Given the description of an element on the screen output the (x, y) to click on. 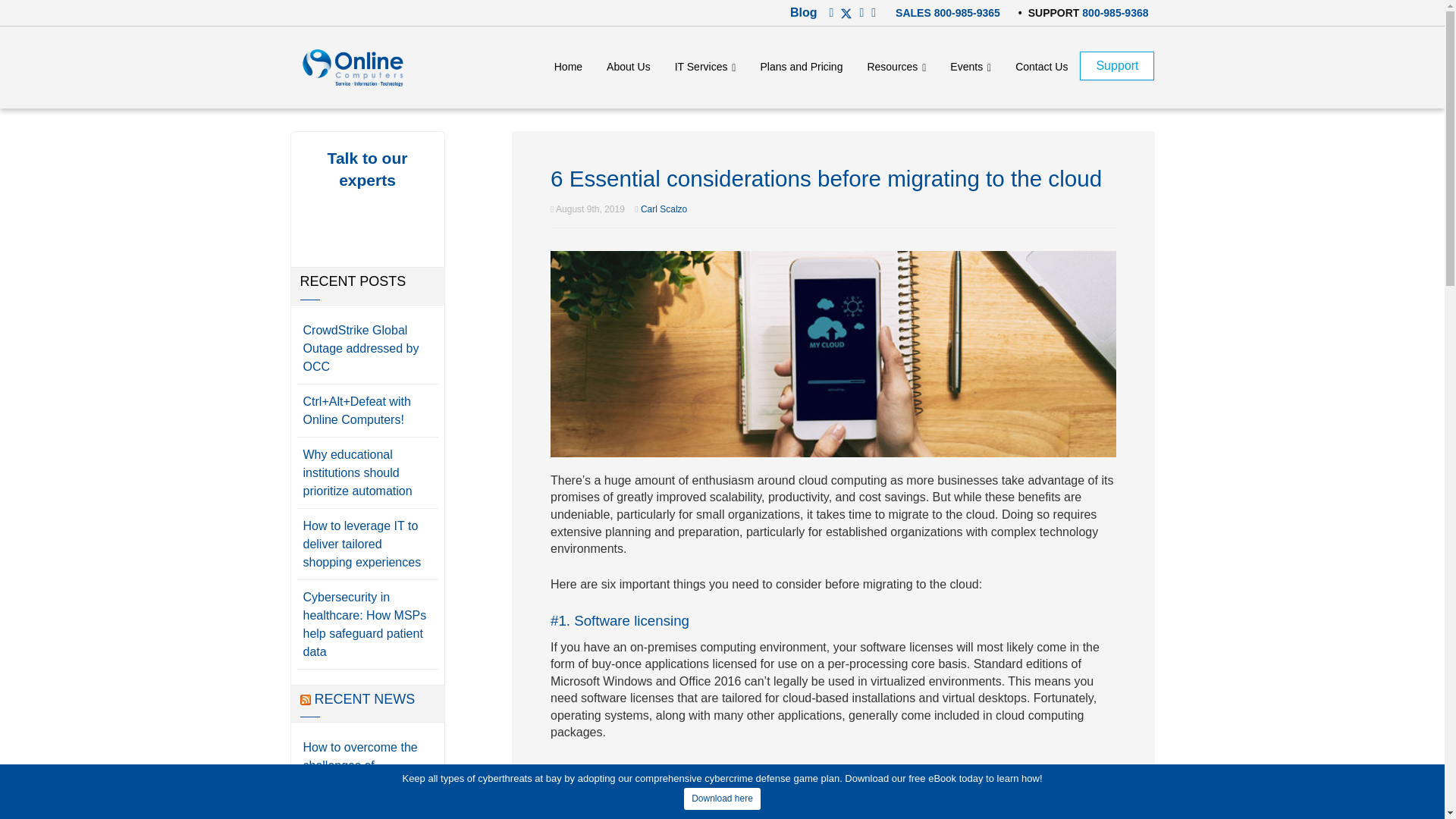
Posts by Carl Scalzo (663, 208)
